Given the description of an element on the screen output the (x, y) to click on. 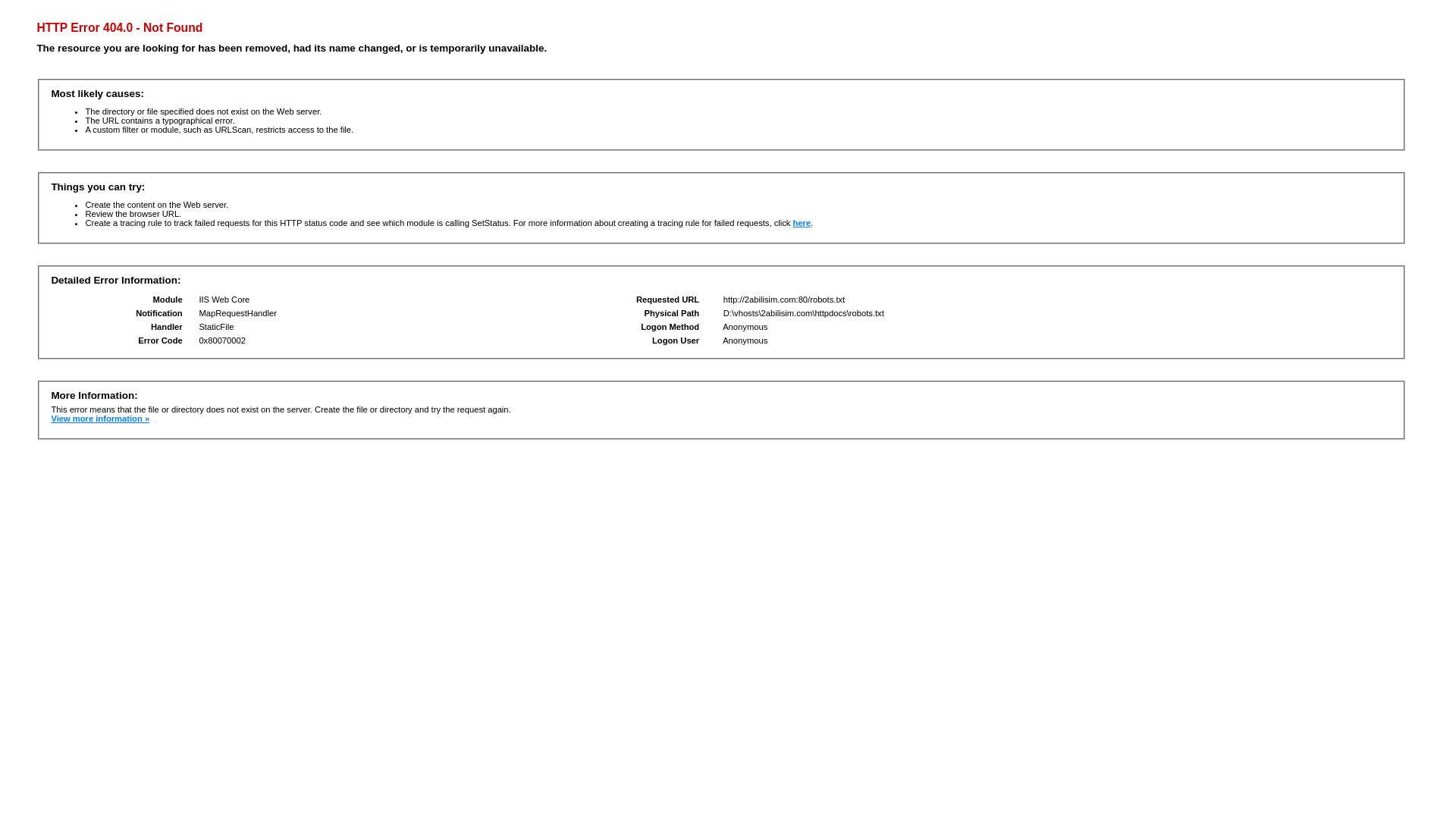
here Element type: text (802, 222)
